Given the description of an element on the screen output the (x, y) to click on. 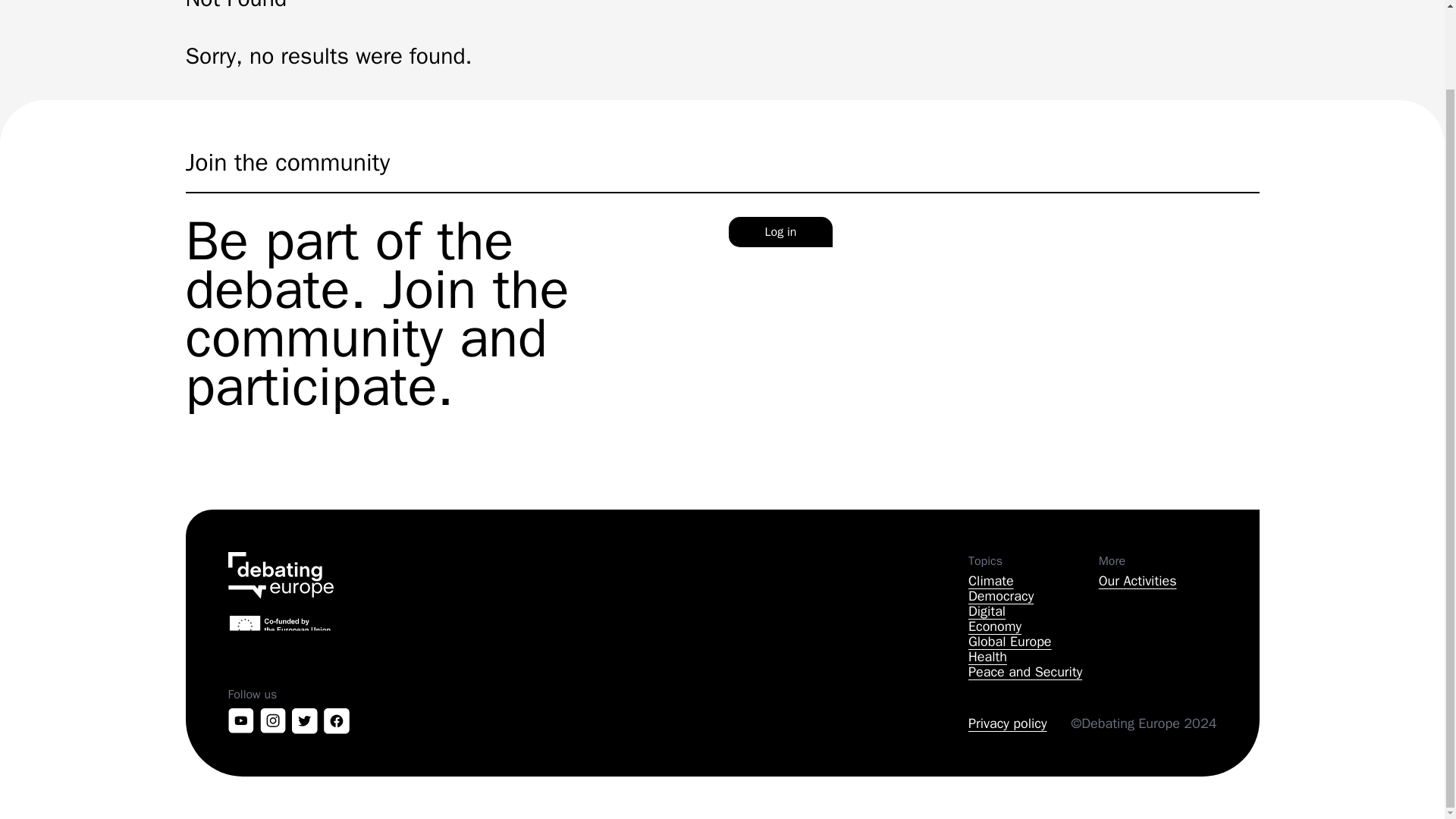
Climate (1027, 580)
Our Activities (1137, 580)
Peace and Security (1027, 671)
Economy (1027, 626)
Global Europe (1027, 640)
Democracy (1027, 595)
Digital (1027, 610)
Privacy policy (1007, 723)
Health (1027, 656)
Login (810, 370)
